Given the description of an element on the screen output the (x, y) to click on. 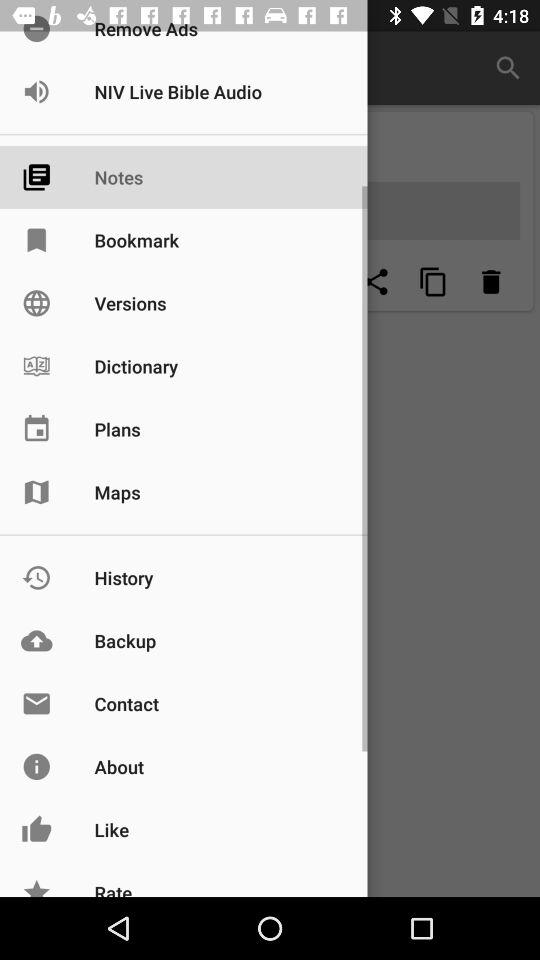
empty page (317, 281)
